Given the description of an element on the screen output the (x, y) to click on. 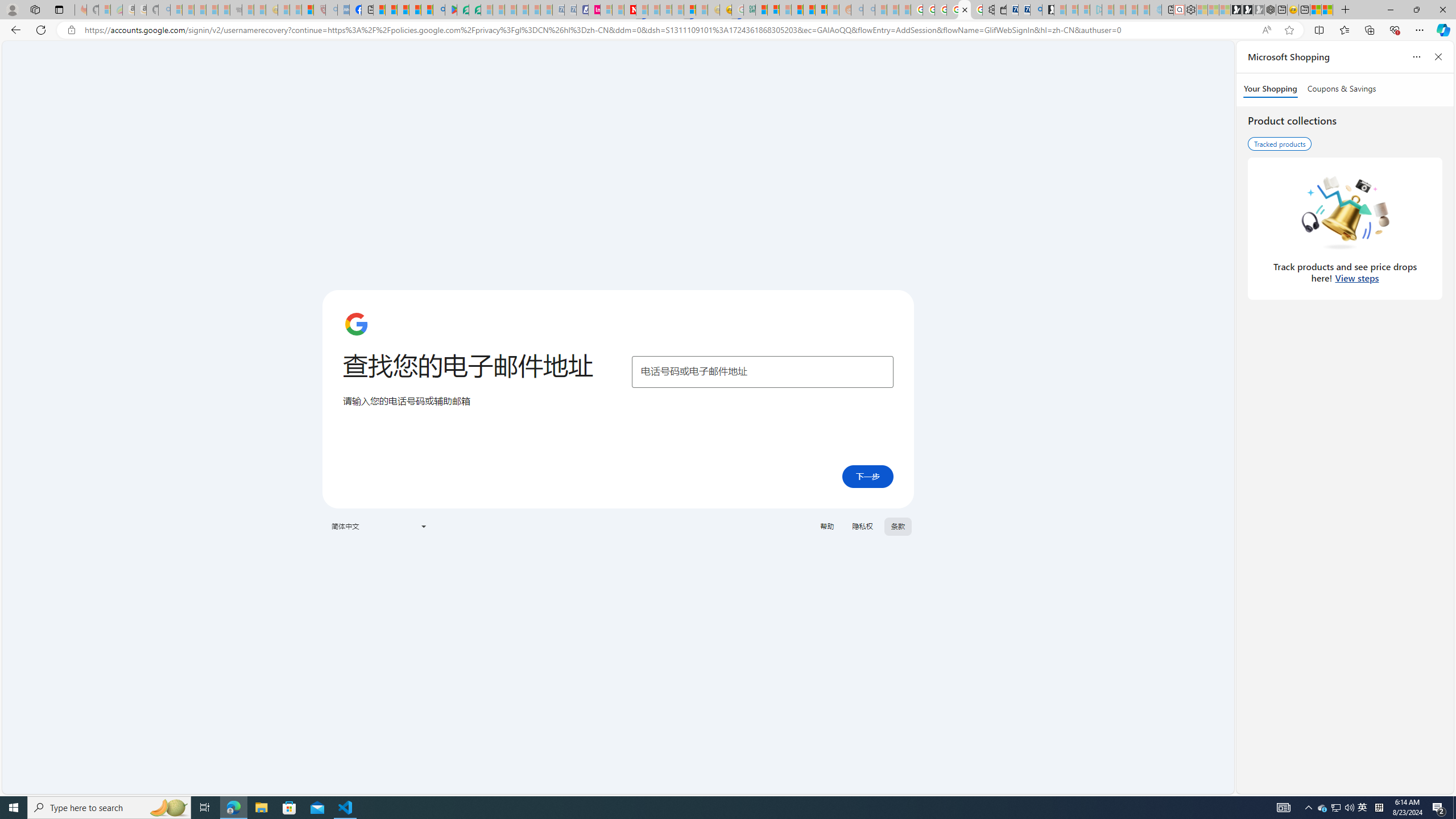
Cheap Hotels - Save70.com - Sleeping (569, 9)
Microsoft Start Gaming (1047, 9)
Nordace - Nordace Siena Is Not An Ordinary Backpack (1270, 9)
DITOGAMES AG Imprint (749, 9)
Pets - MSN (415, 9)
